Given the description of an element on the screen output the (x, y) to click on. 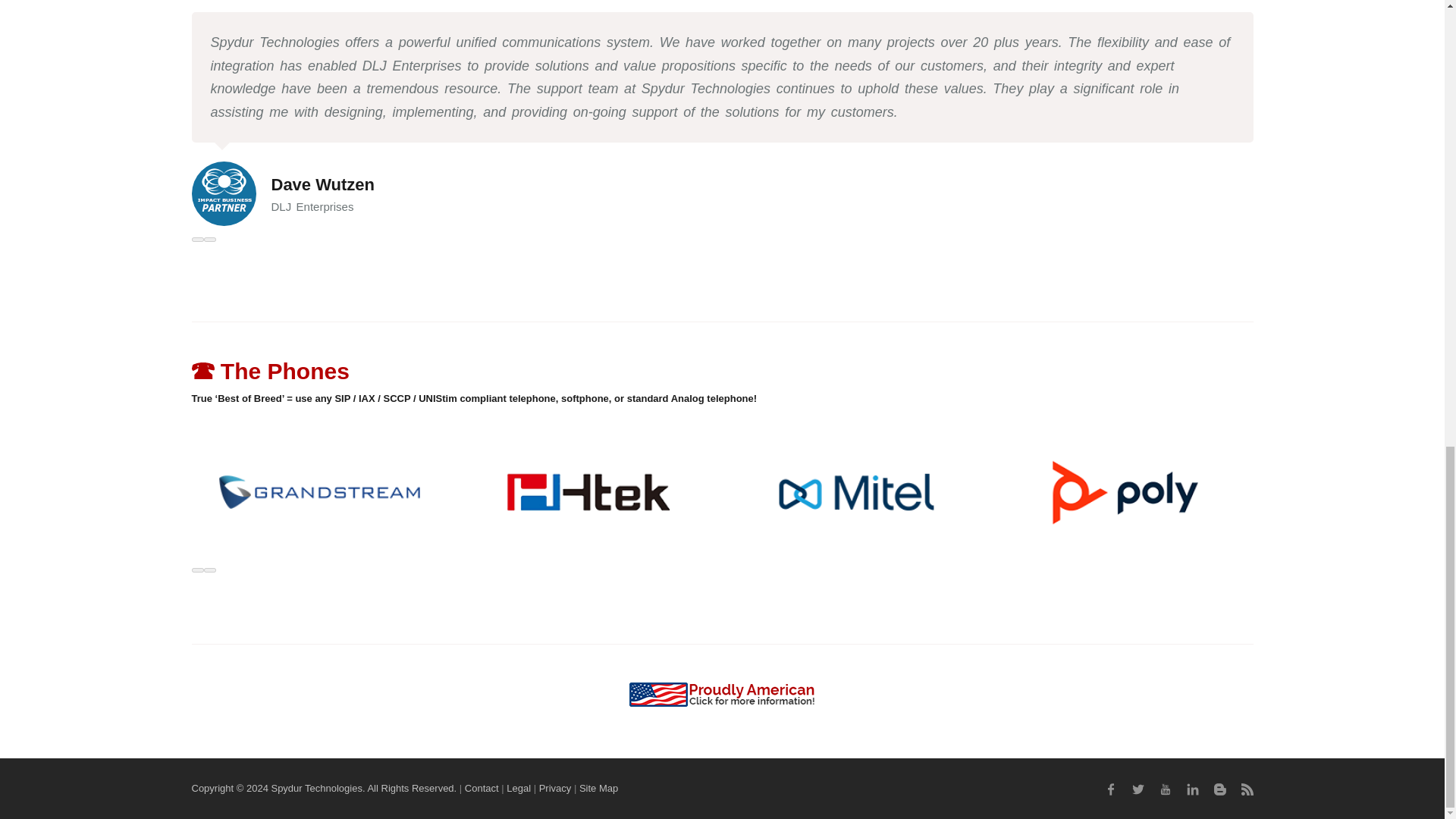
The Phones (269, 371)
